Given the description of an element on the screen output the (x, y) to click on. 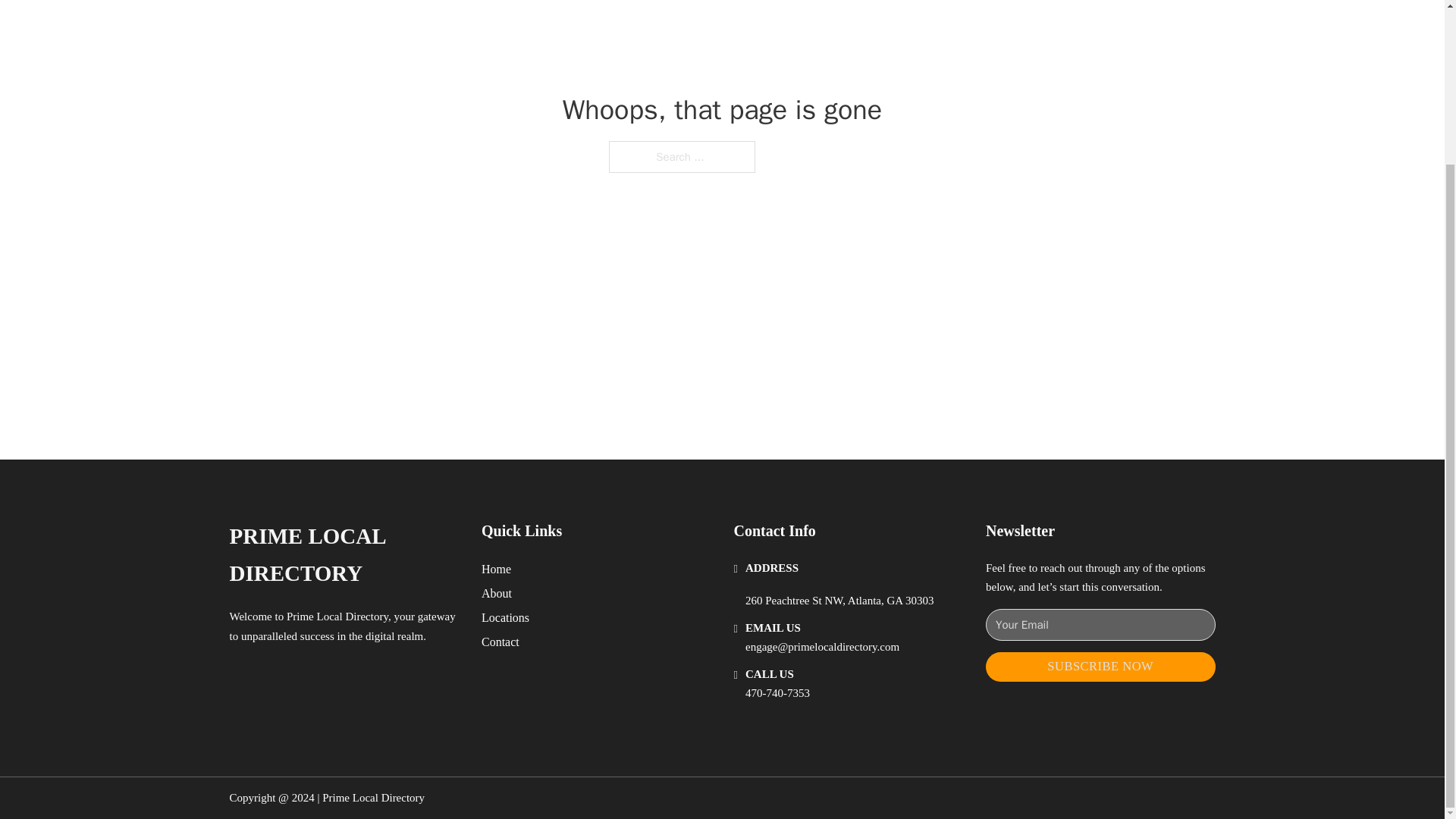
Locations (505, 617)
Contact (500, 641)
470-740-7353 (777, 693)
About (496, 593)
PRIME LOCAL DIRECTORY (343, 554)
Home (496, 568)
SUBSCRIBE NOW (1100, 666)
